Given the description of an element on the screen output the (x, y) to click on. 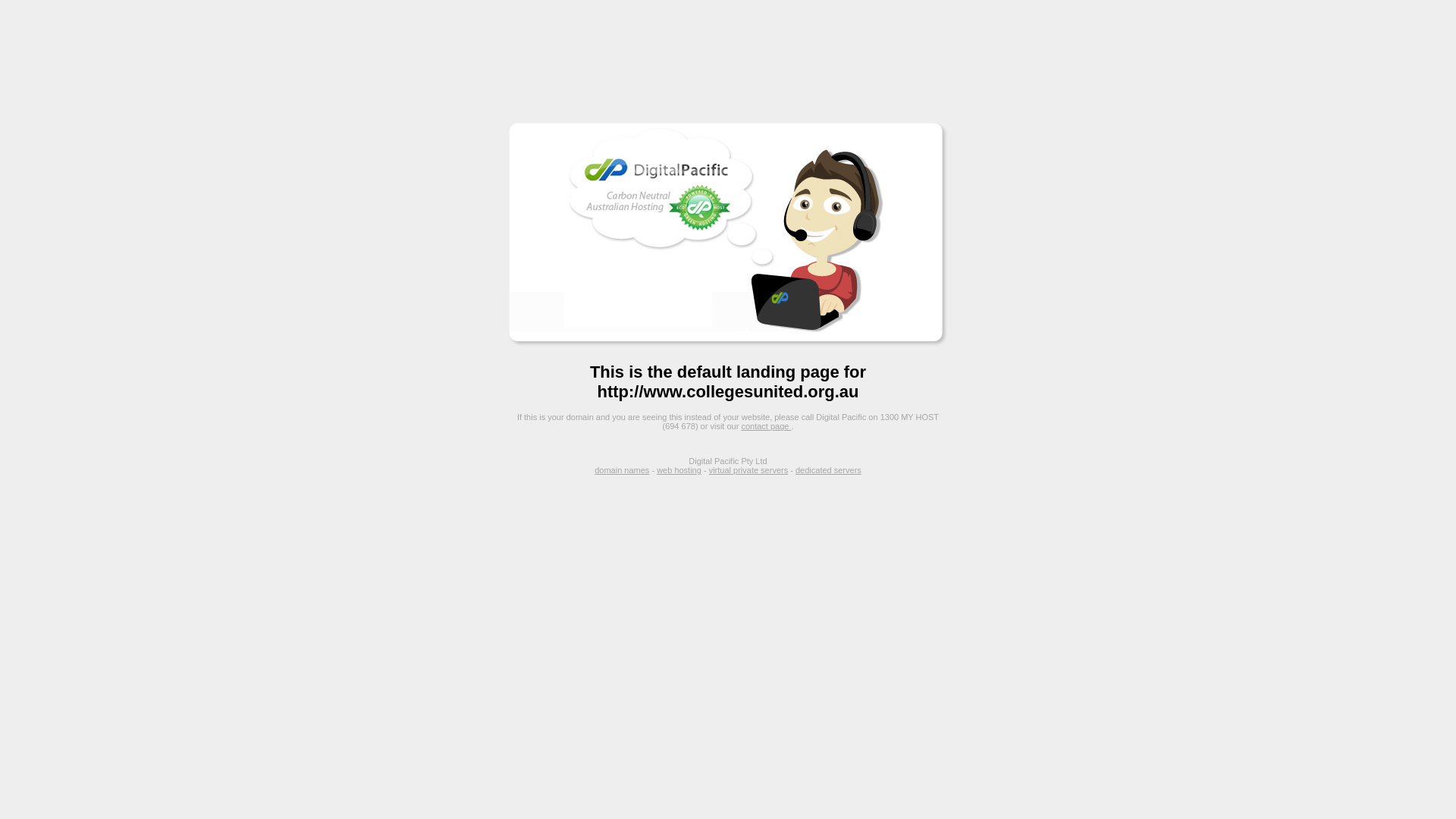
domain names Element type: text (621, 469)
web hosting Element type: text (678, 469)
contact page Element type: text (765, 425)
dedicated servers Element type: text (828, 469)
virtual private servers Element type: text (748, 469)
